Given the description of an element on the screen output the (x, y) to click on. 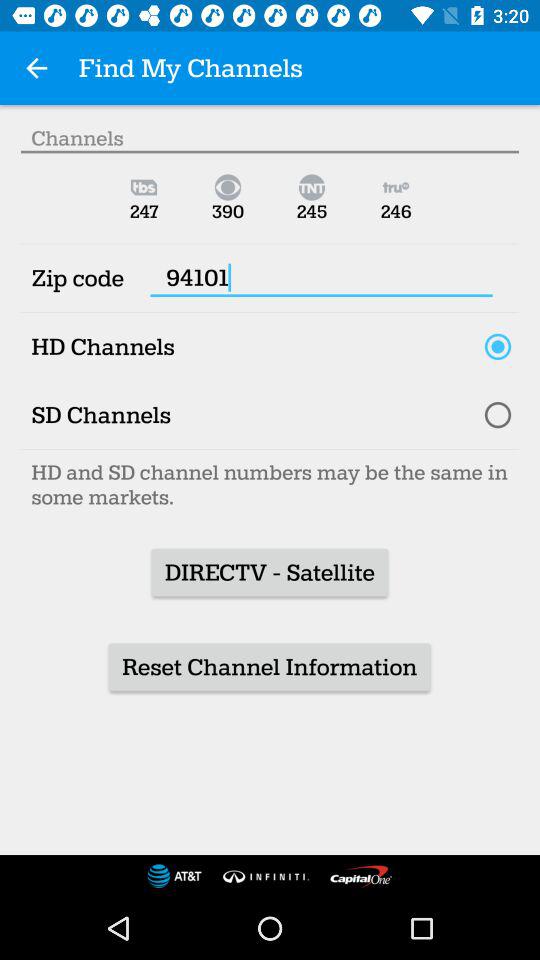
toggle sd channels (498, 415)
